Given the description of an element on the screen output the (x, y) to click on. 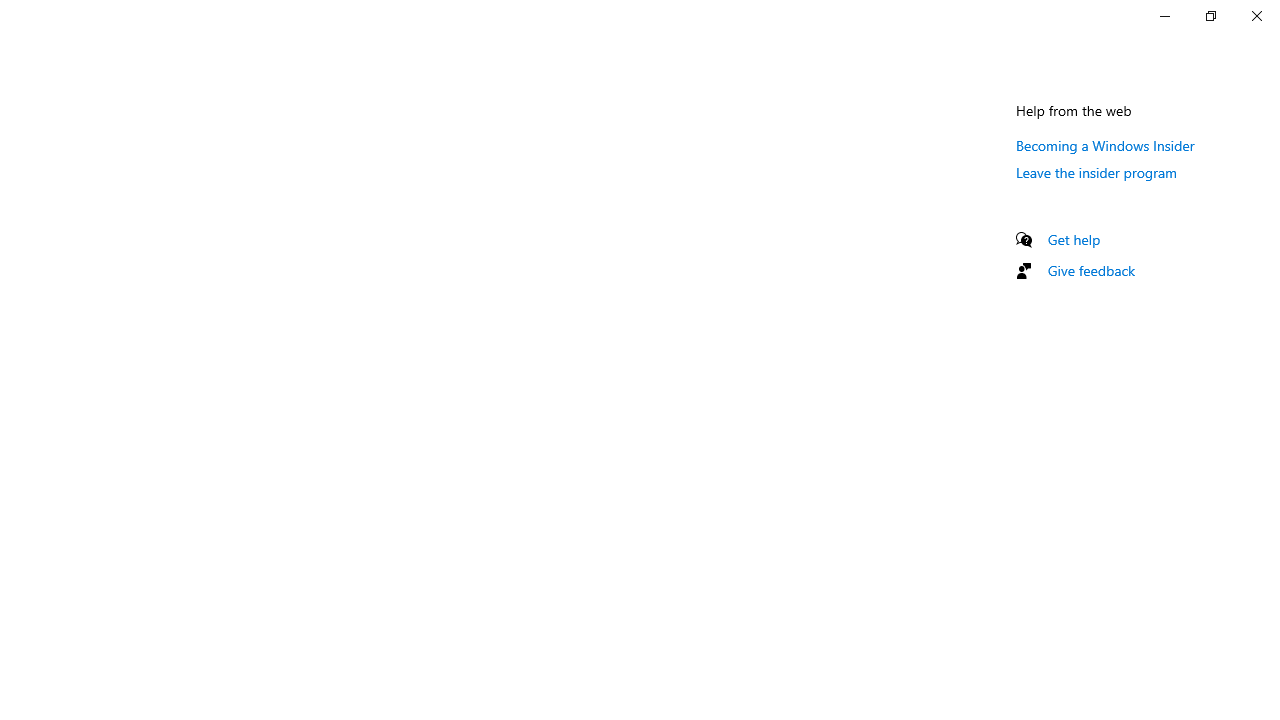
Restore Settings (1210, 15)
Becoming a Windows Insider (1105, 145)
Leave the insider program (1096, 172)
Get help (1074, 239)
Give feedback (1091, 270)
Close Settings (1256, 15)
Minimize Settings (1164, 15)
